Given the description of an element on the screen output the (x, y) to click on. 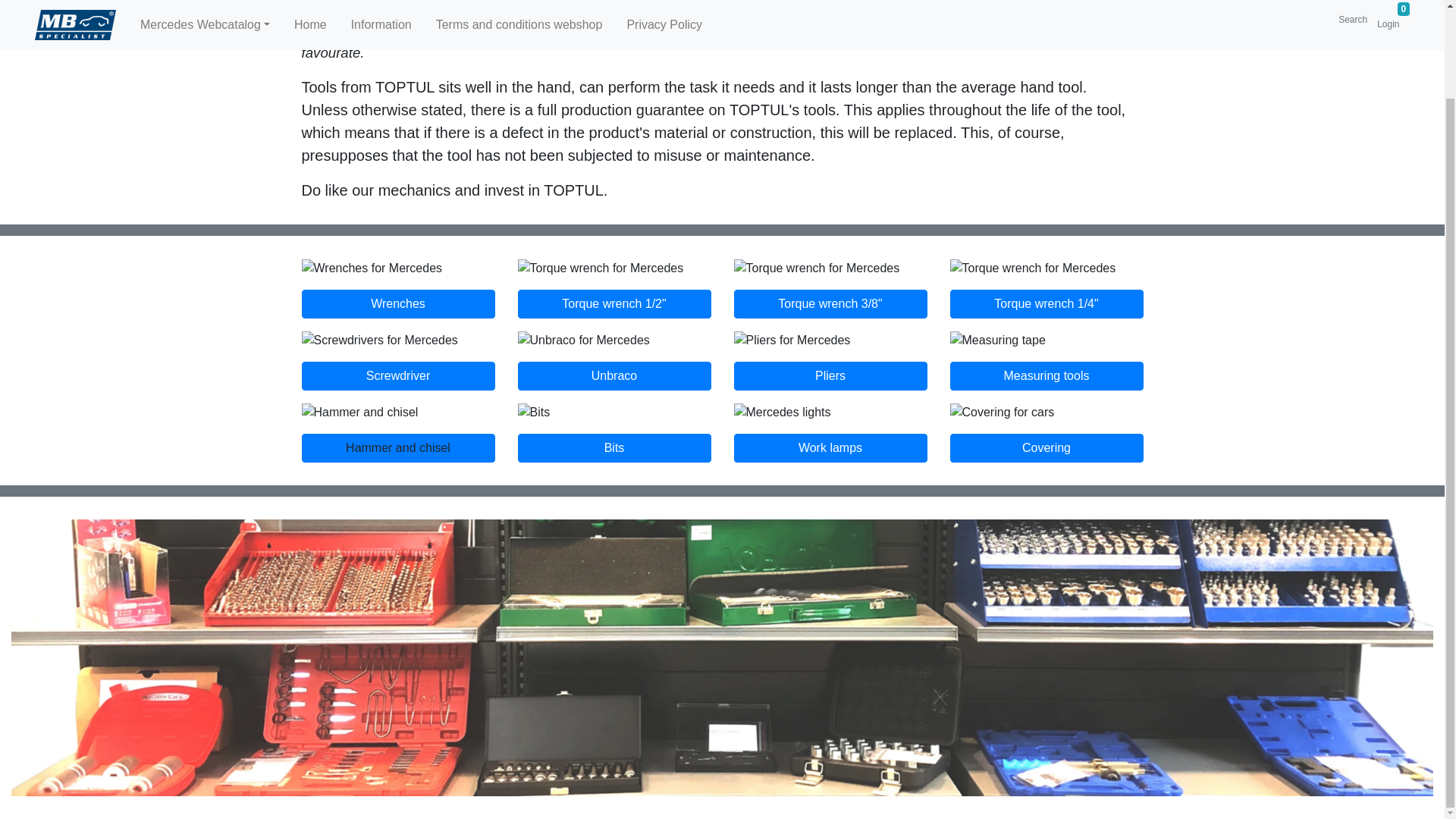
Wrenches (398, 303)
Covering (1045, 448)
Hammer and chisel (398, 448)
Work lamps (830, 448)
Pliers (830, 375)
Measuring tools (1045, 375)
Bits (613, 448)
Bits (613, 448)
Work lamps (830, 448)
Unbraco (613, 375)
Screwdriver (398, 375)
Measuring tools (1045, 375)
Pliers (830, 375)
Screwdriver (398, 375)
Covering for Mercedes (1045, 448)
